Given the description of an element on the screen output the (x, y) to click on. 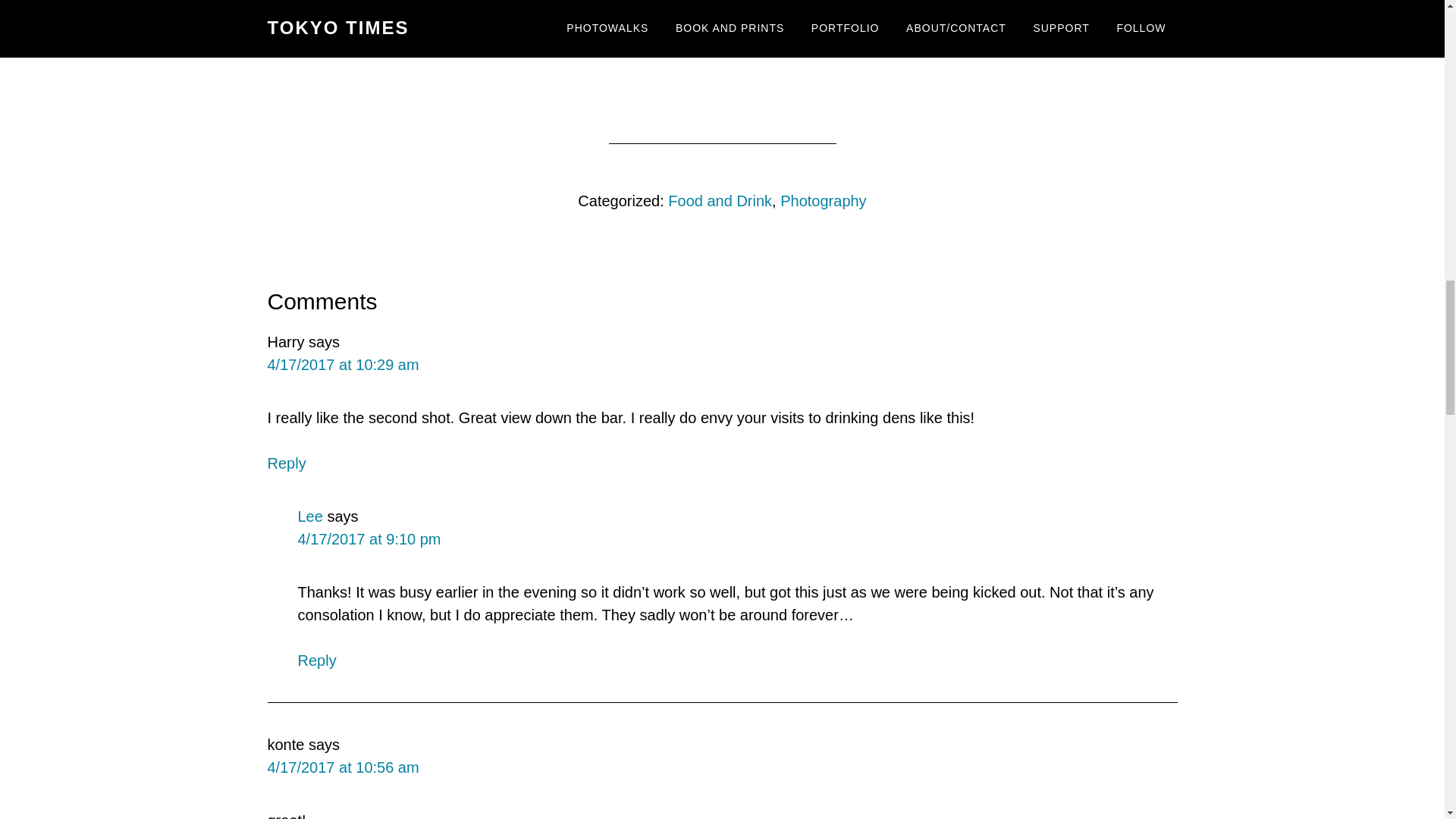
Photography (823, 200)
Reply (285, 463)
Food and Drink (719, 200)
Reply (316, 660)
Lee (309, 515)
